Given the description of an element on the screen output the (x, y) to click on. 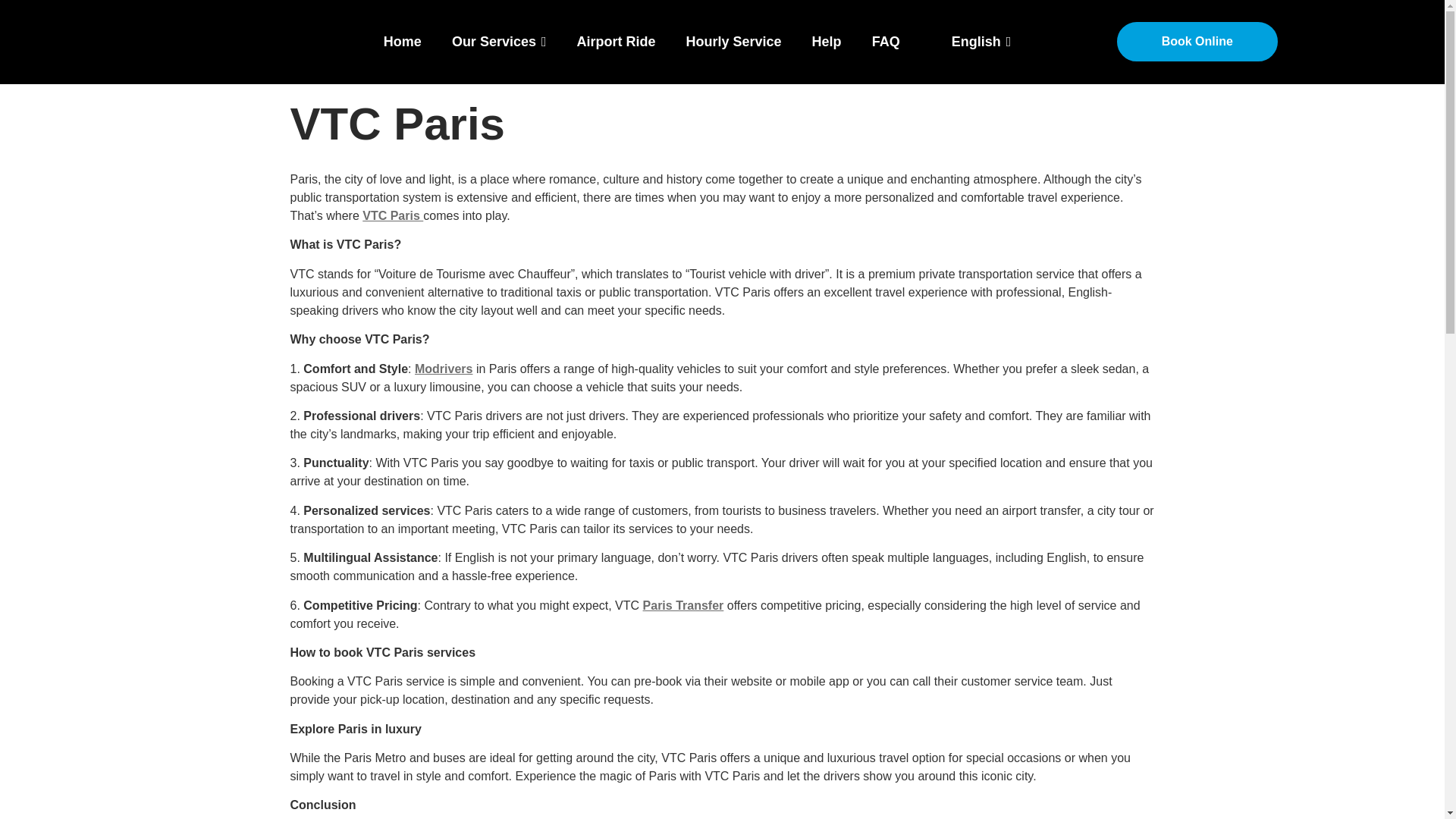
Paris Transfer (683, 604)
VTC Paris (392, 215)
Airport Ride (616, 41)
Book Online (1197, 41)
Modrivers (442, 368)
English (940, 41)
FAQ (886, 41)
Home (402, 41)
Hourly Service (733, 41)
Our Services (499, 41)
